Given the description of an element on the screen output the (x, y) to click on. 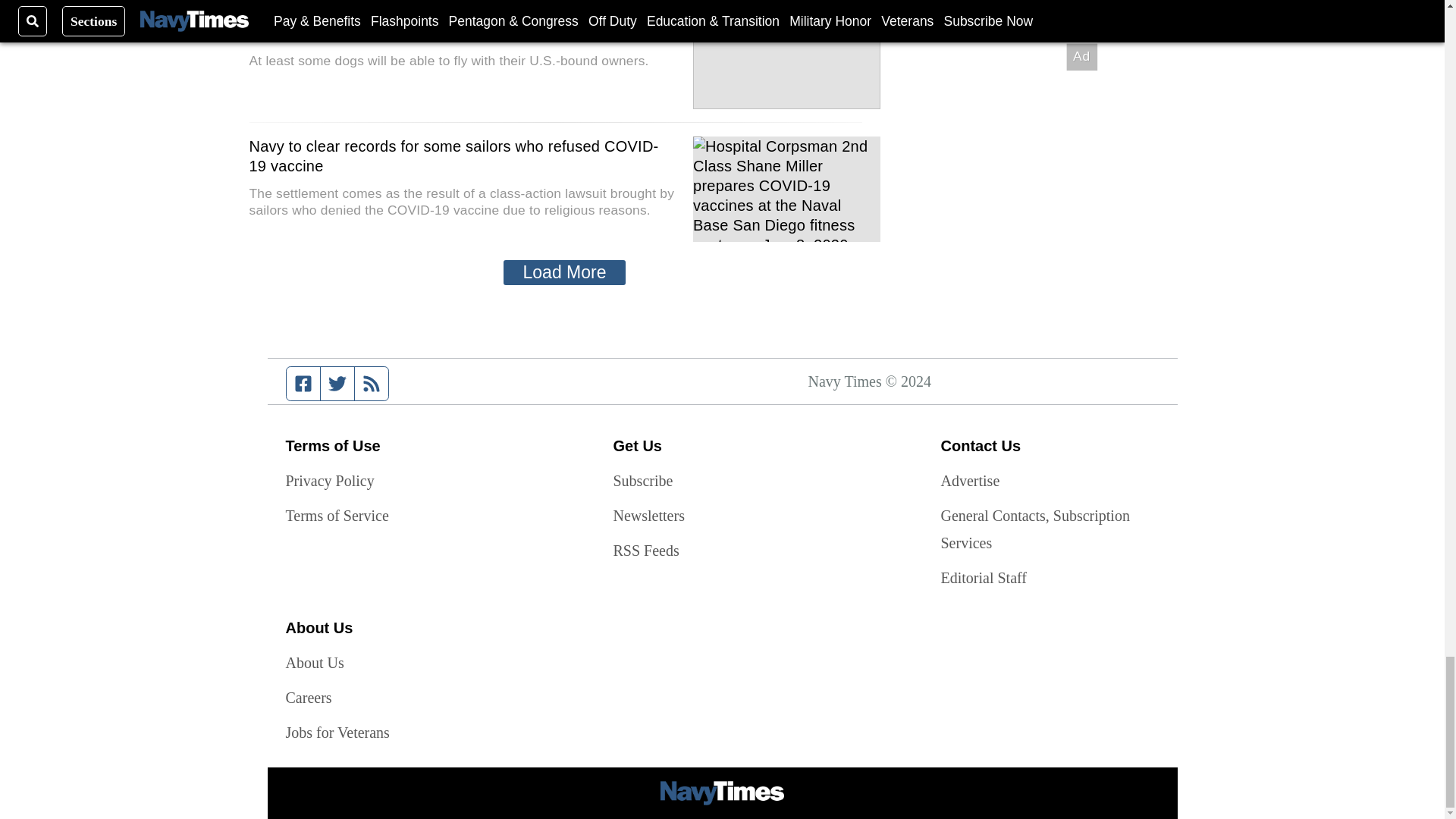
Facebook page (303, 383)
RSS feed (371, 383)
Twitter feed (336, 383)
